Given the description of an element on the screen output the (x, y) to click on. 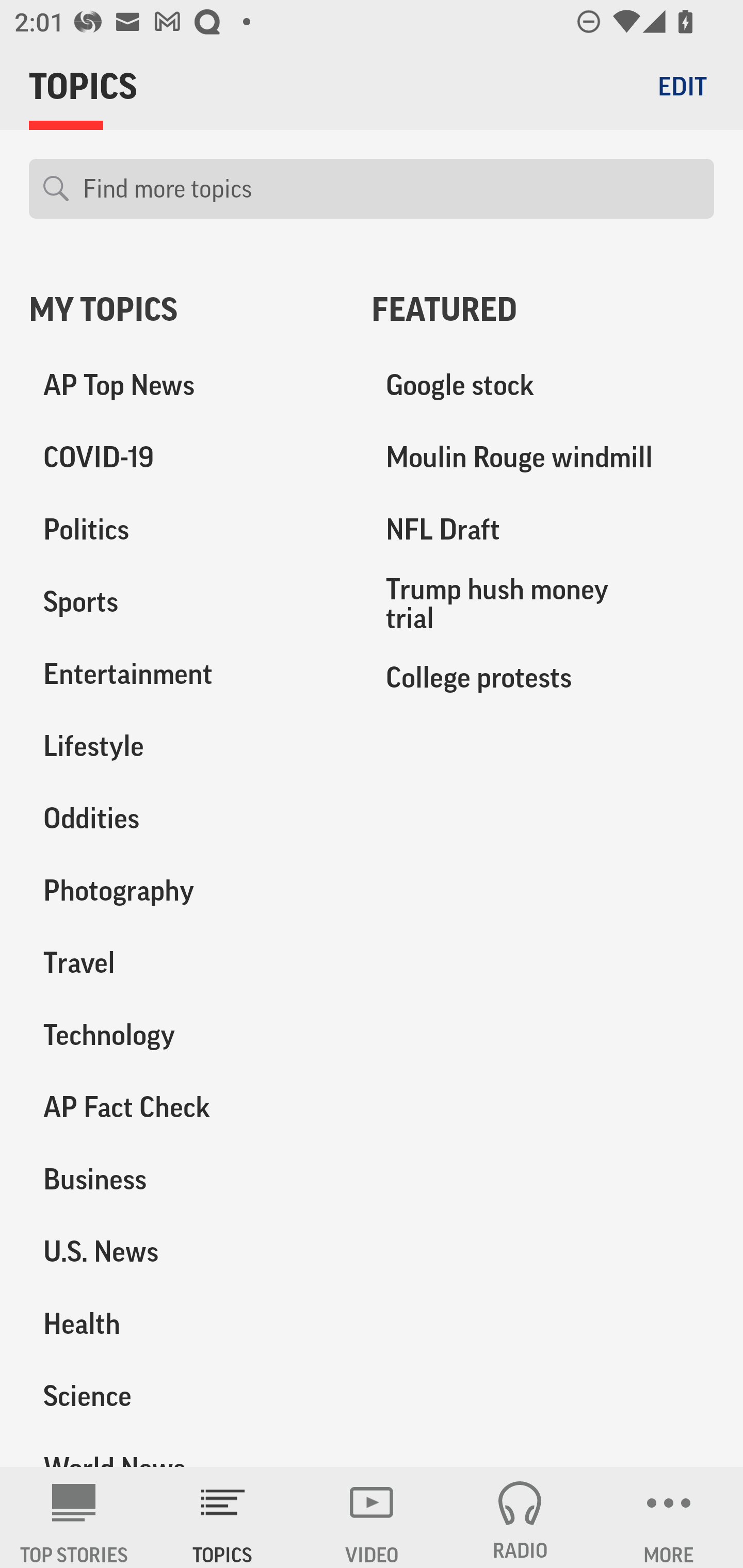
EDIT (682, 86)
Find more topics (391, 188)
AP Top News (185, 385)
Google stock (542, 385)
COVID-19 (185, 457)
Moulin Rouge windmill (542, 457)
Politics (185, 529)
NFL Draft (542, 529)
Sports (185, 602)
Trump hush money trial (542, 603)
Entertainment (185, 674)
College protests (542, 677)
Lifestyle (185, 746)
Oddities (185, 818)
Photography (185, 890)
Travel (185, 962)
Technology (185, 1034)
AP Fact Check (185, 1106)
Business (185, 1179)
U.S. News (185, 1251)
Health (185, 1323)
Science (185, 1395)
AP News TOP STORIES (74, 1517)
TOPICS (222, 1517)
VIDEO (371, 1517)
RADIO (519, 1517)
MORE (668, 1517)
